Given the description of an element on the screen output the (x, y) to click on. 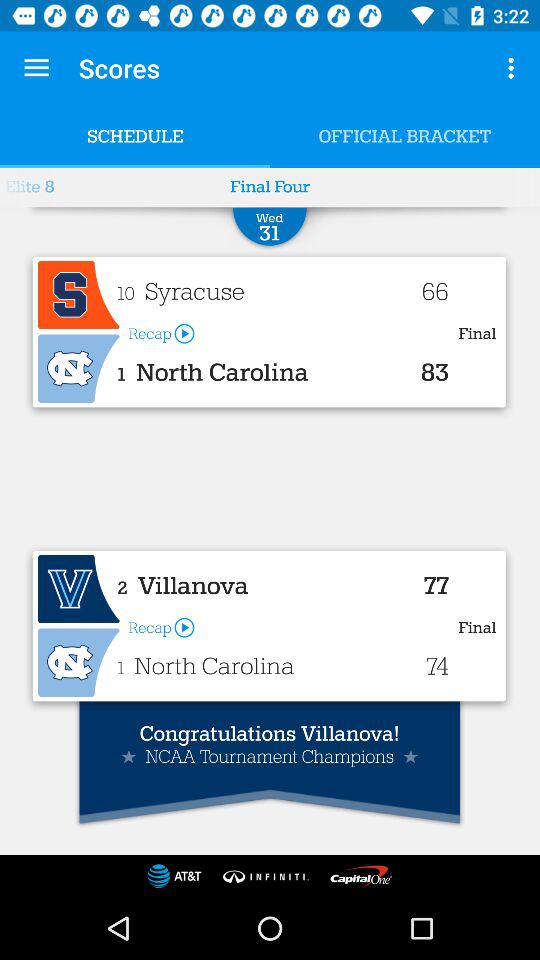
advertisement (78, 295)
